Given the description of an element on the screen output the (x, y) to click on. 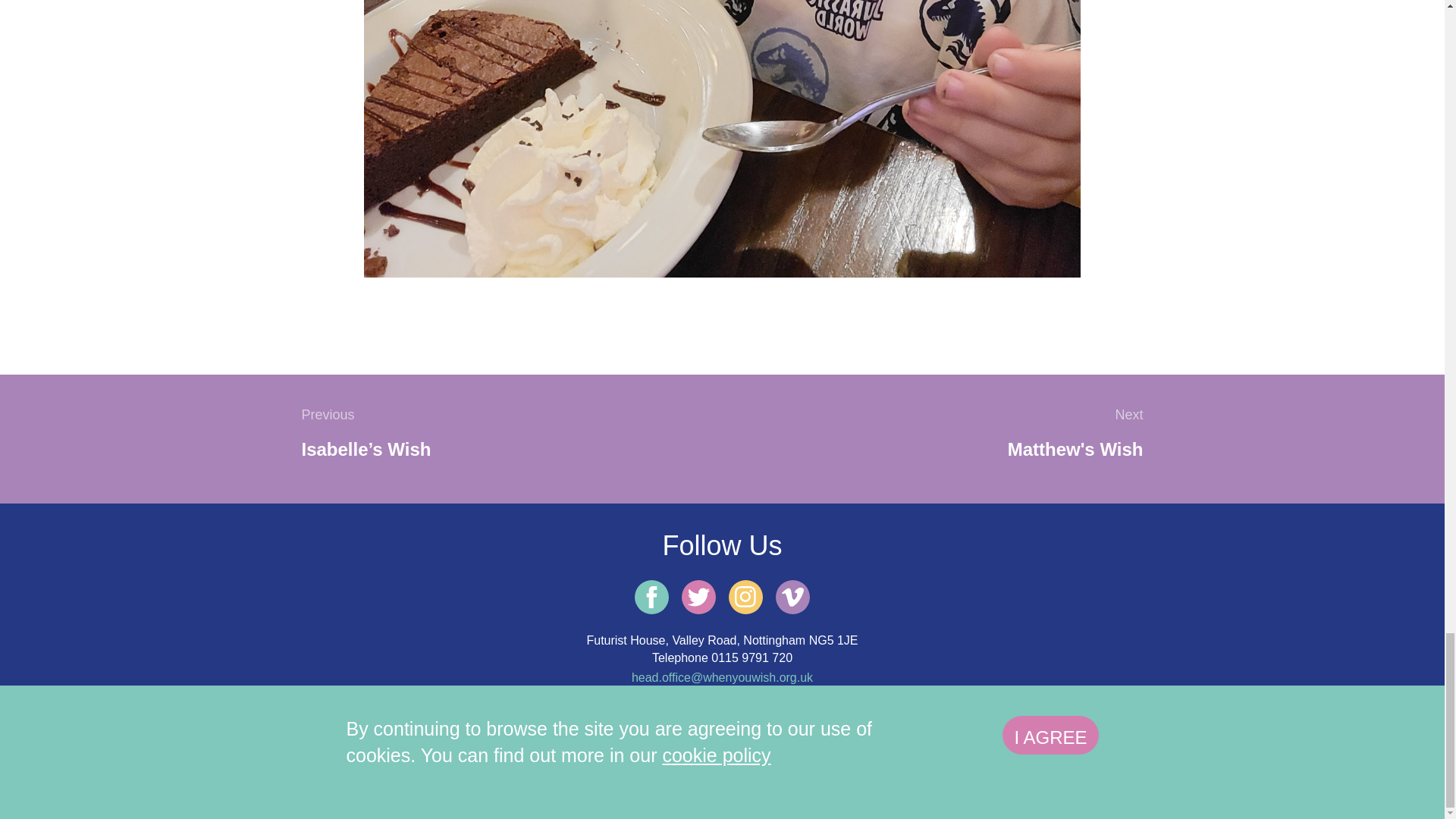
Previous (328, 415)
